Given the description of an element on the screen output the (x, y) to click on. 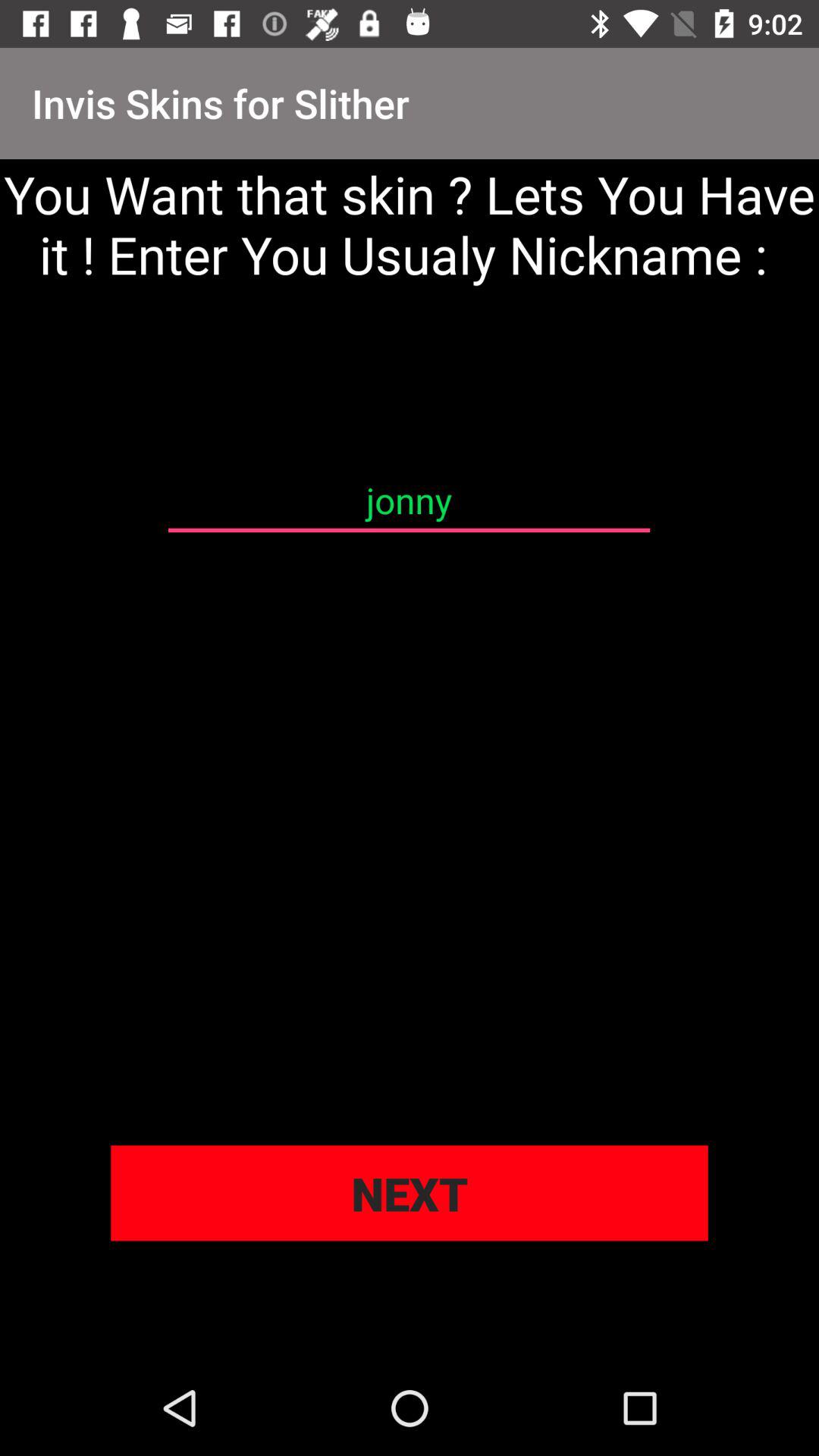
turn on the jonny icon (409, 501)
